Given the description of an element on the screen output the (x, y) to click on. 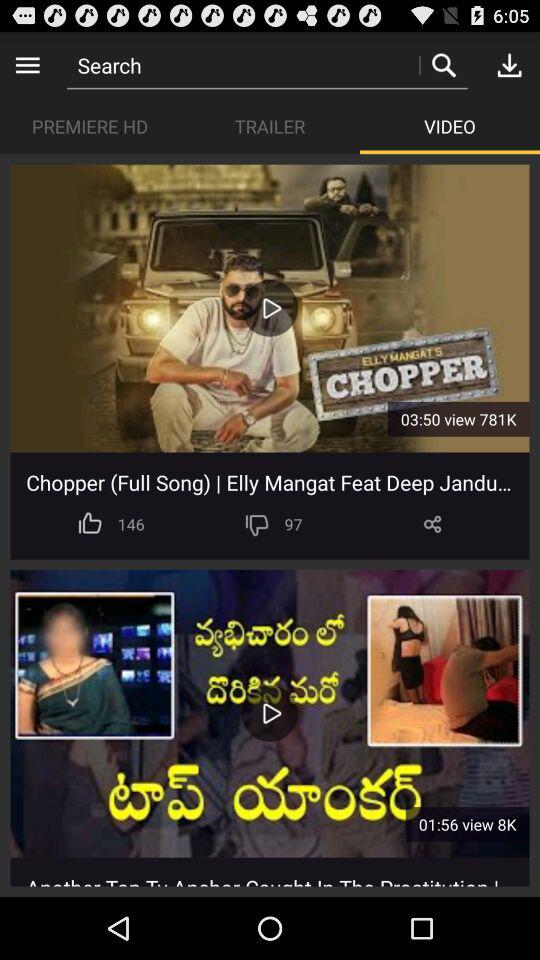
choose 146 icon (130, 523)
